Given the description of an element on the screen output the (x, y) to click on. 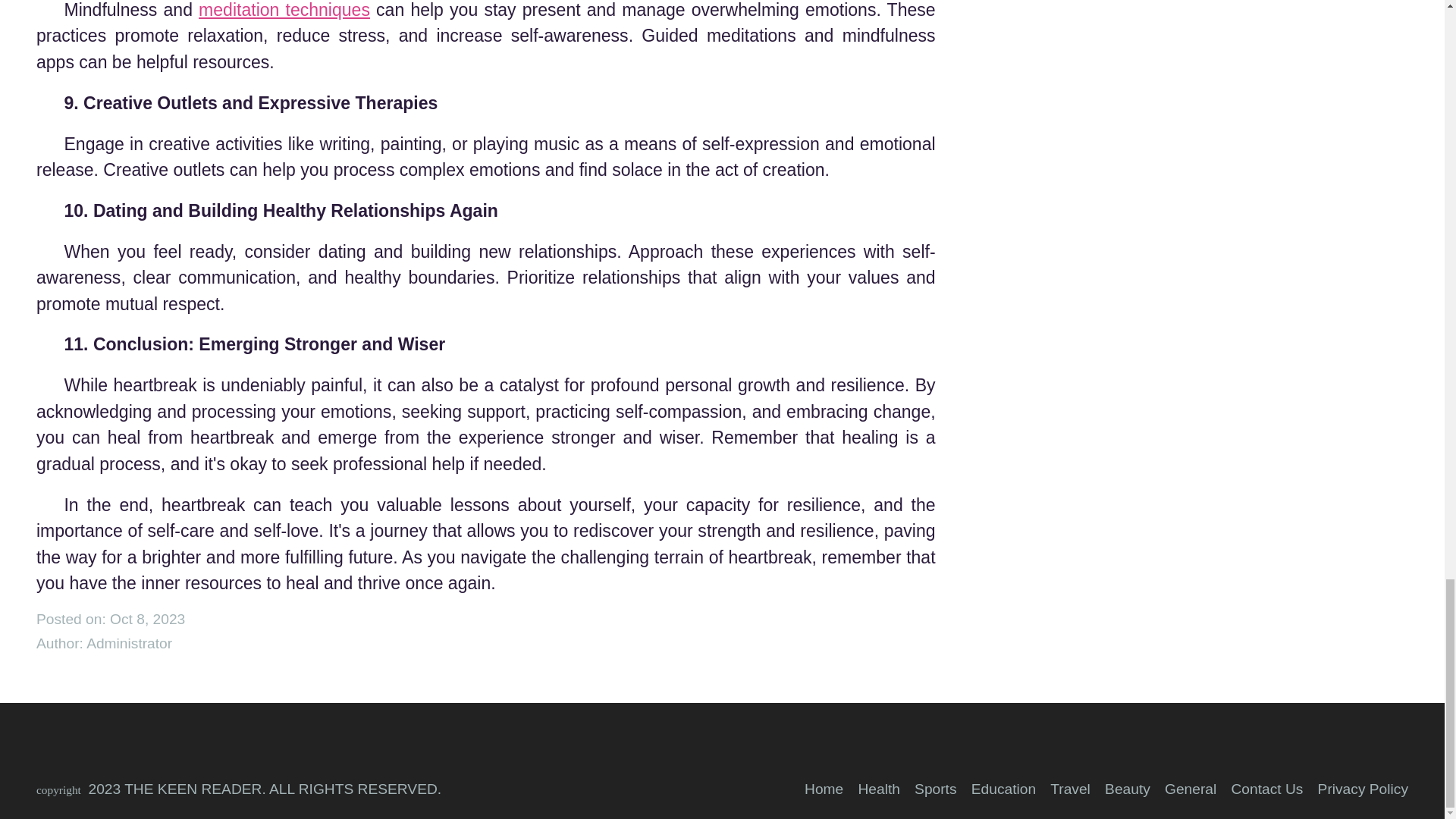
Sports (935, 788)
Privacy Policy (1362, 788)
Home (824, 788)
General (1189, 788)
Contact Us (1266, 788)
Travel (1069, 788)
Beauty (1127, 788)
meditation techniques (283, 9)
Education (1003, 788)
Health (878, 788)
